Given the description of an element on the screen output the (x, y) to click on. 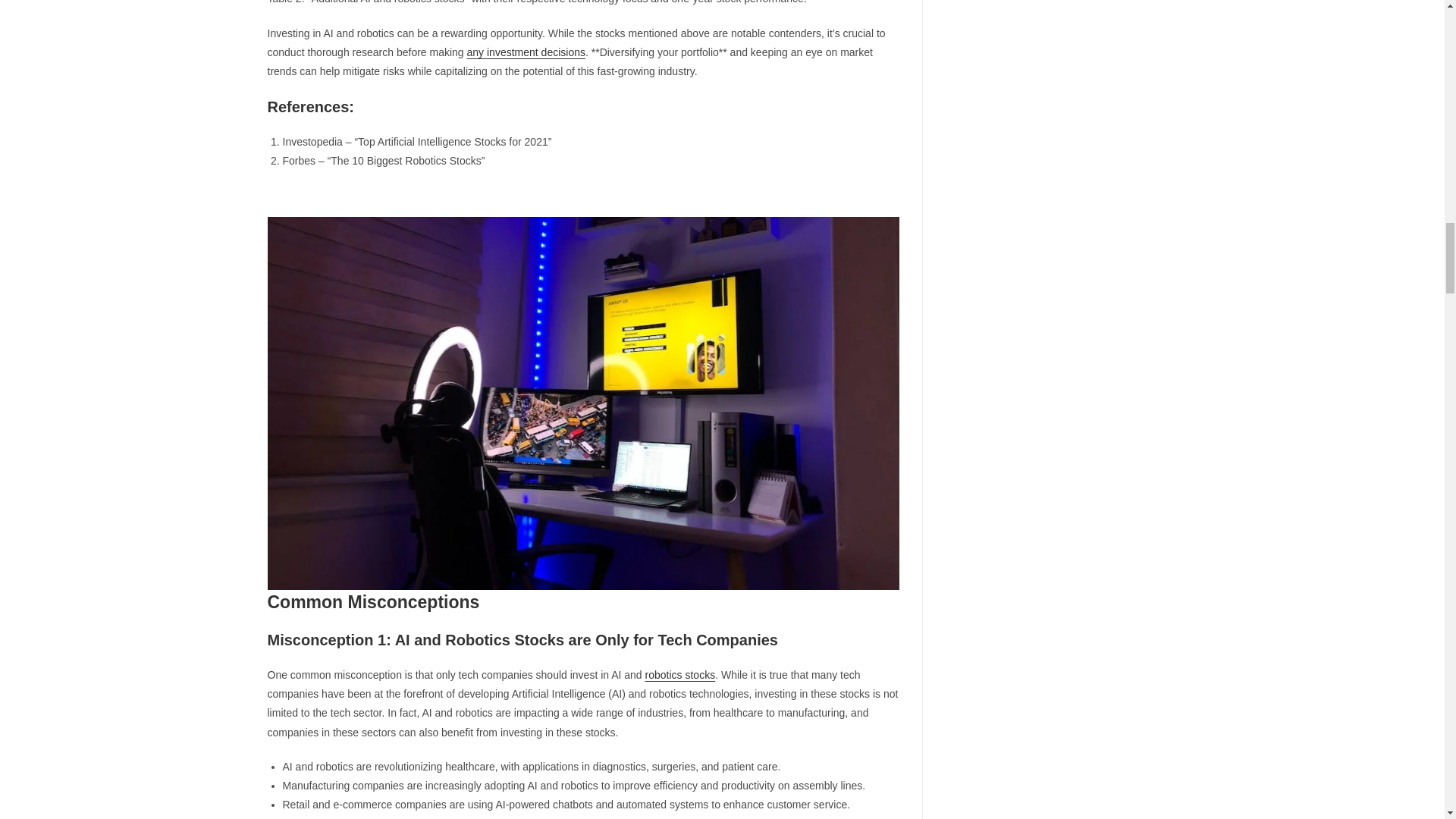
any investment decisions (526, 51)
robotics stocks (680, 674)
